Given the description of an element on the screen output the (x, y) to click on. 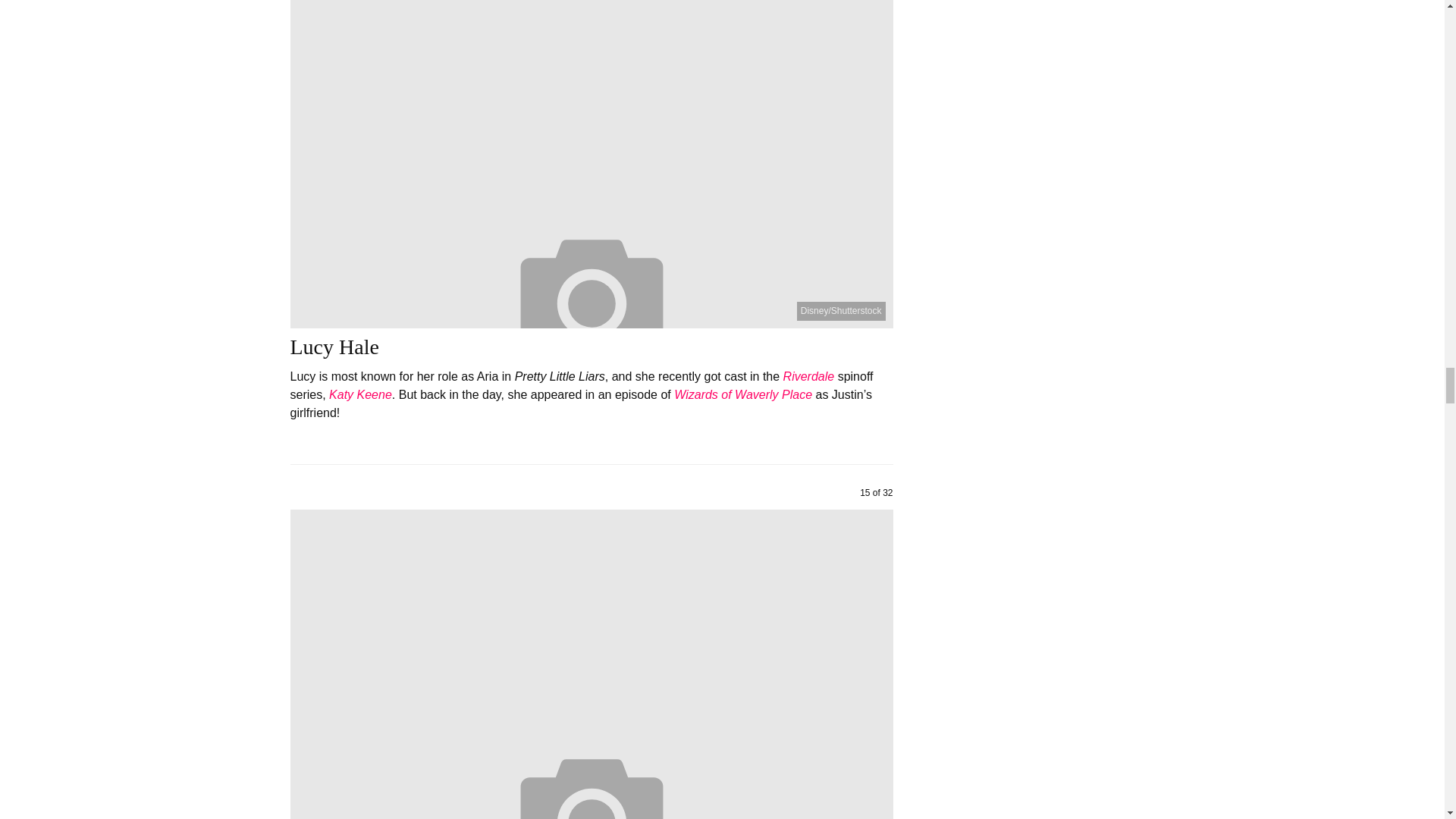
Katy Keene (360, 394)
Riverdale (808, 376)
Wizards of Waverly Place (743, 394)
